Given the description of an element on the screen output the (x, y) to click on. 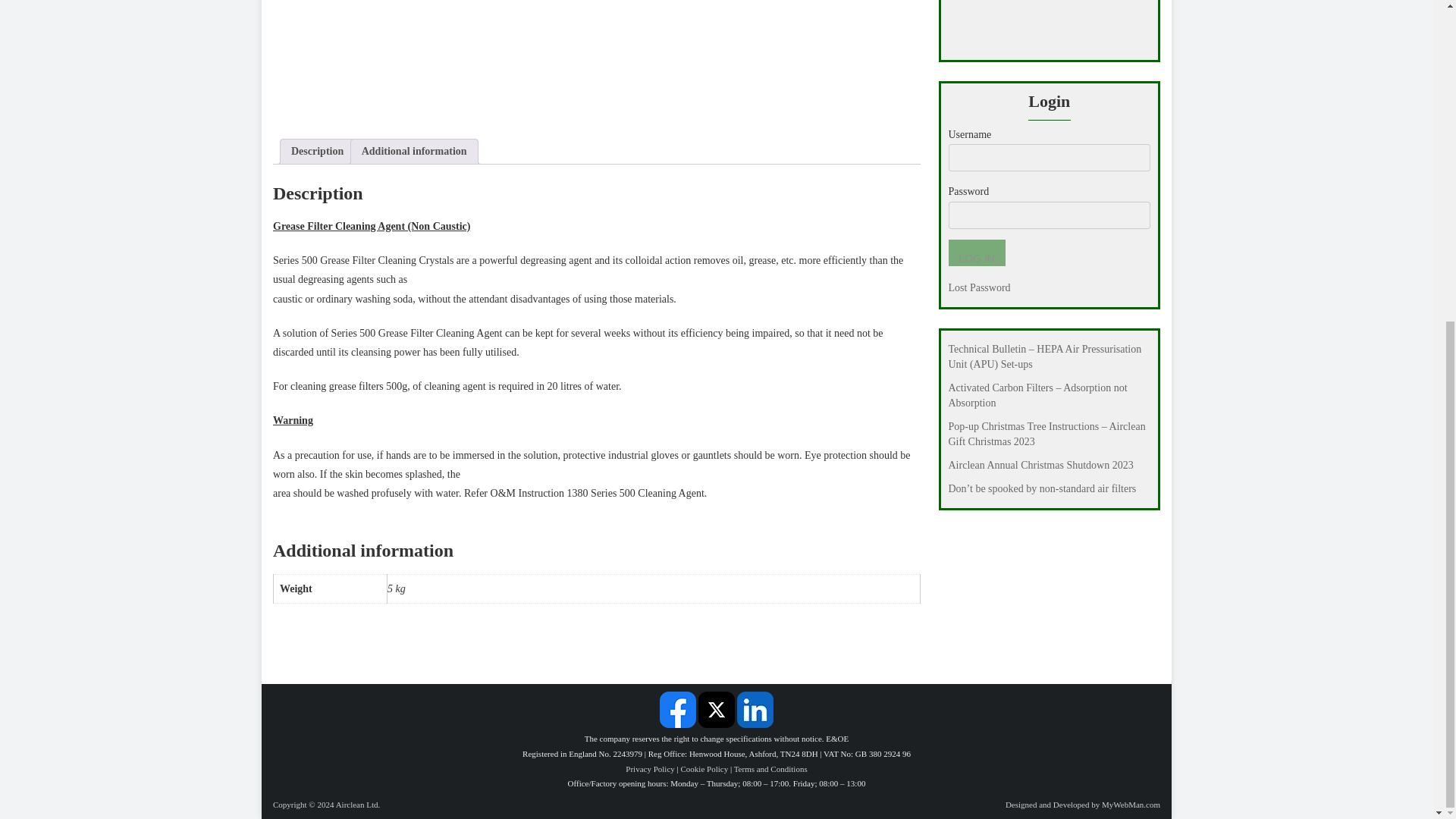
Log In (975, 252)
